Given the description of an element on the screen output the (x, y) to click on. 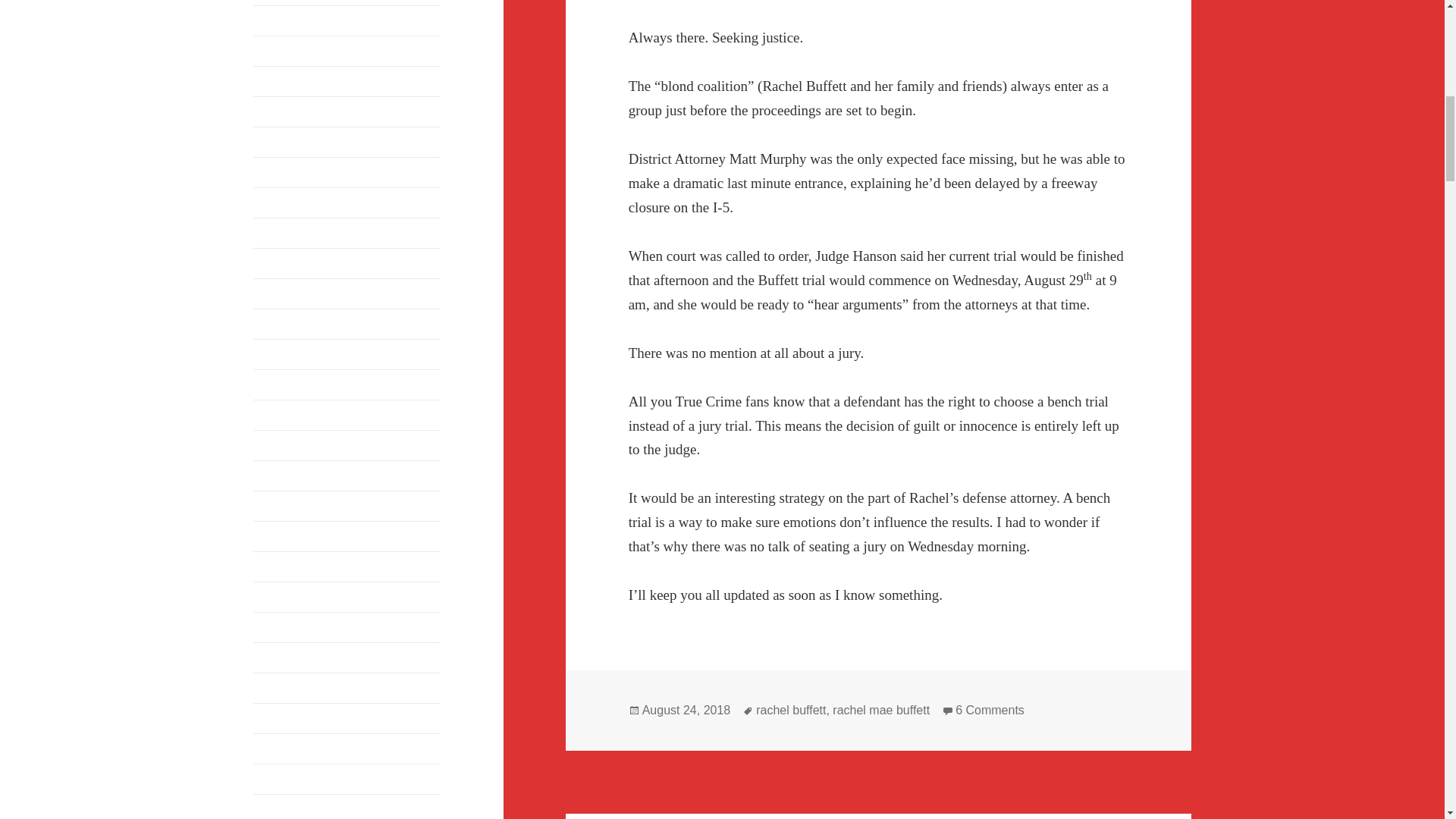
November 2018 (292, 413)
January 2018 (285, 656)
August 2020 (284, 141)
January 2019 (285, 383)
October 2018 (286, 444)
June 2018 (277, 565)
September 2018 (292, 474)
December 2017 (291, 686)
August 2018 (284, 504)
October 2019 (286, 292)
June 2020 (277, 171)
February 2022 (288, 19)
February 2018 (288, 626)
April 2019 (279, 353)
February 2020 (288, 262)
